Given the description of an element on the screen output the (x, y) to click on. 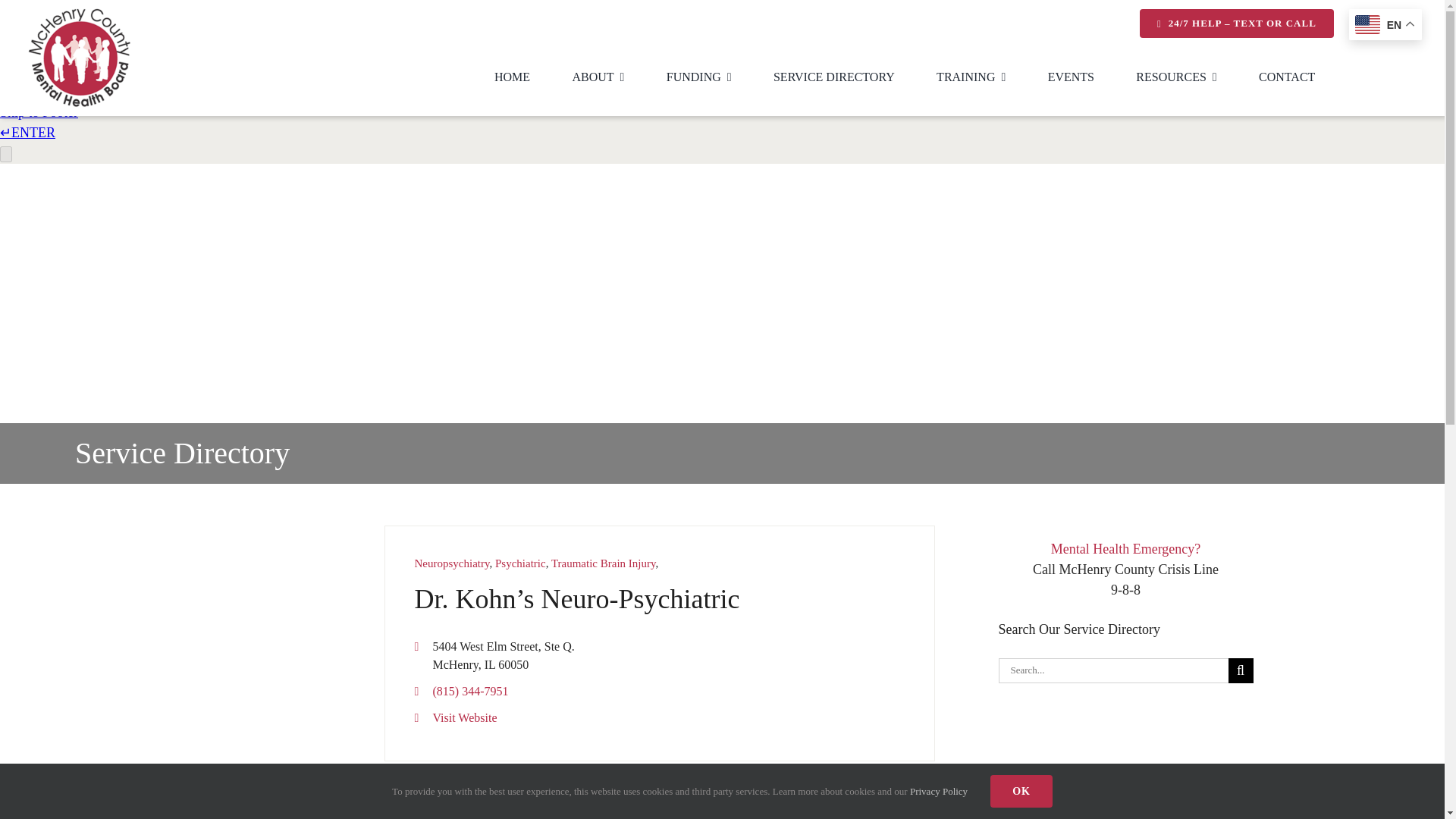
FUNDING (699, 80)
TRAINING (971, 80)
EVENTS (1071, 80)
ABOUT (598, 80)
SERVICE DIRECTORY (834, 80)
RESOURCES (1175, 80)
